Given the description of an element on the screen output the (x, y) to click on. 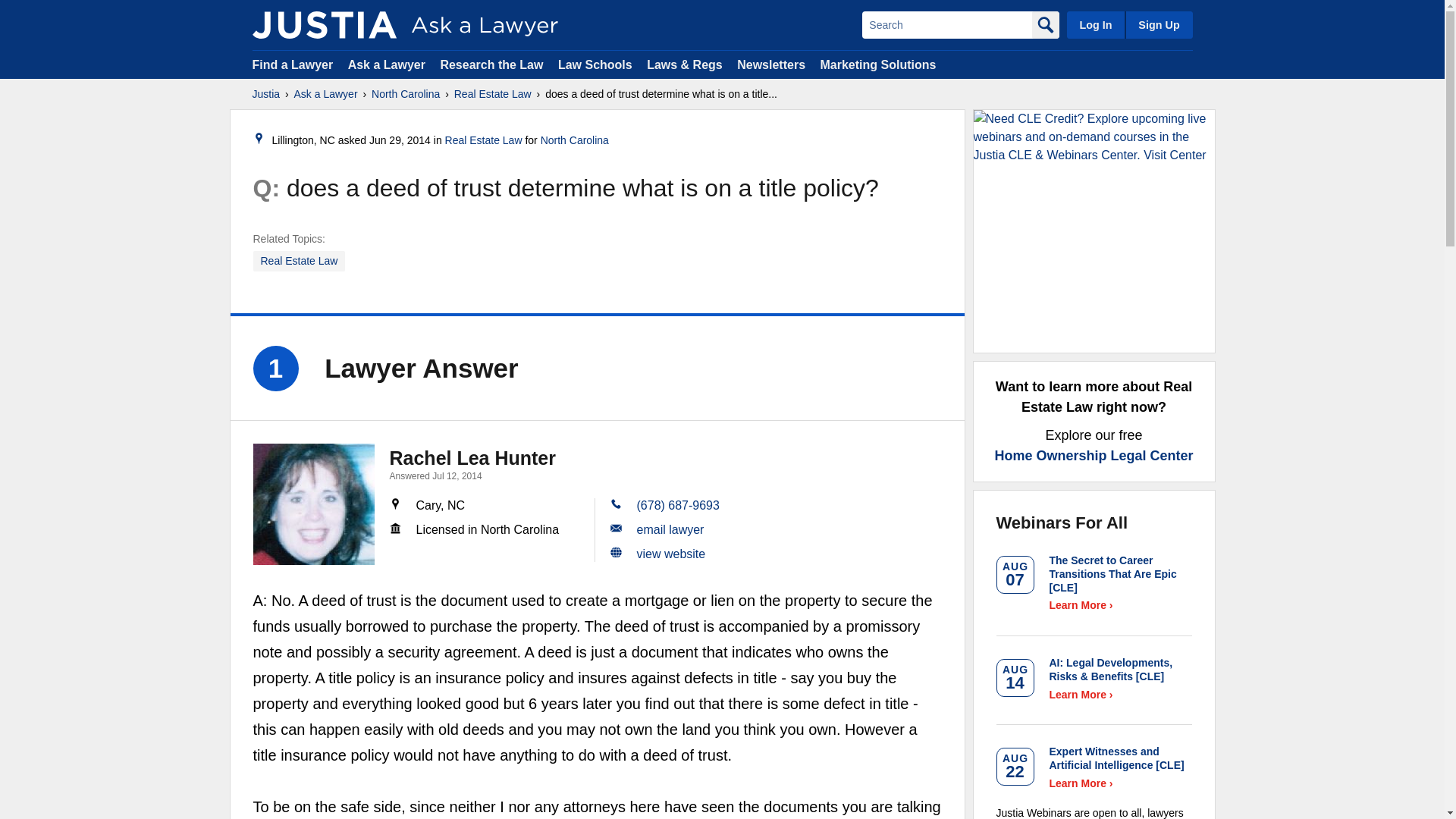
Research the Law (491, 64)
Justia (323, 24)
Justia (265, 93)
view website (671, 553)
Search (945, 24)
Ask a Lawyer (388, 64)
Law Schools (594, 64)
North Carolina (574, 140)
Rachel Lea Hunter (473, 457)
Real Estate Law (299, 260)
2014-06-29T15:41:32-07:00 (399, 140)
North Carolina (405, 93)
Real Estate Law (492, 93)
email lawyer (670, 529)
Ask a Lawyer (326, 93)
